Given the description of an element on the screen output the (x, y) to click on. 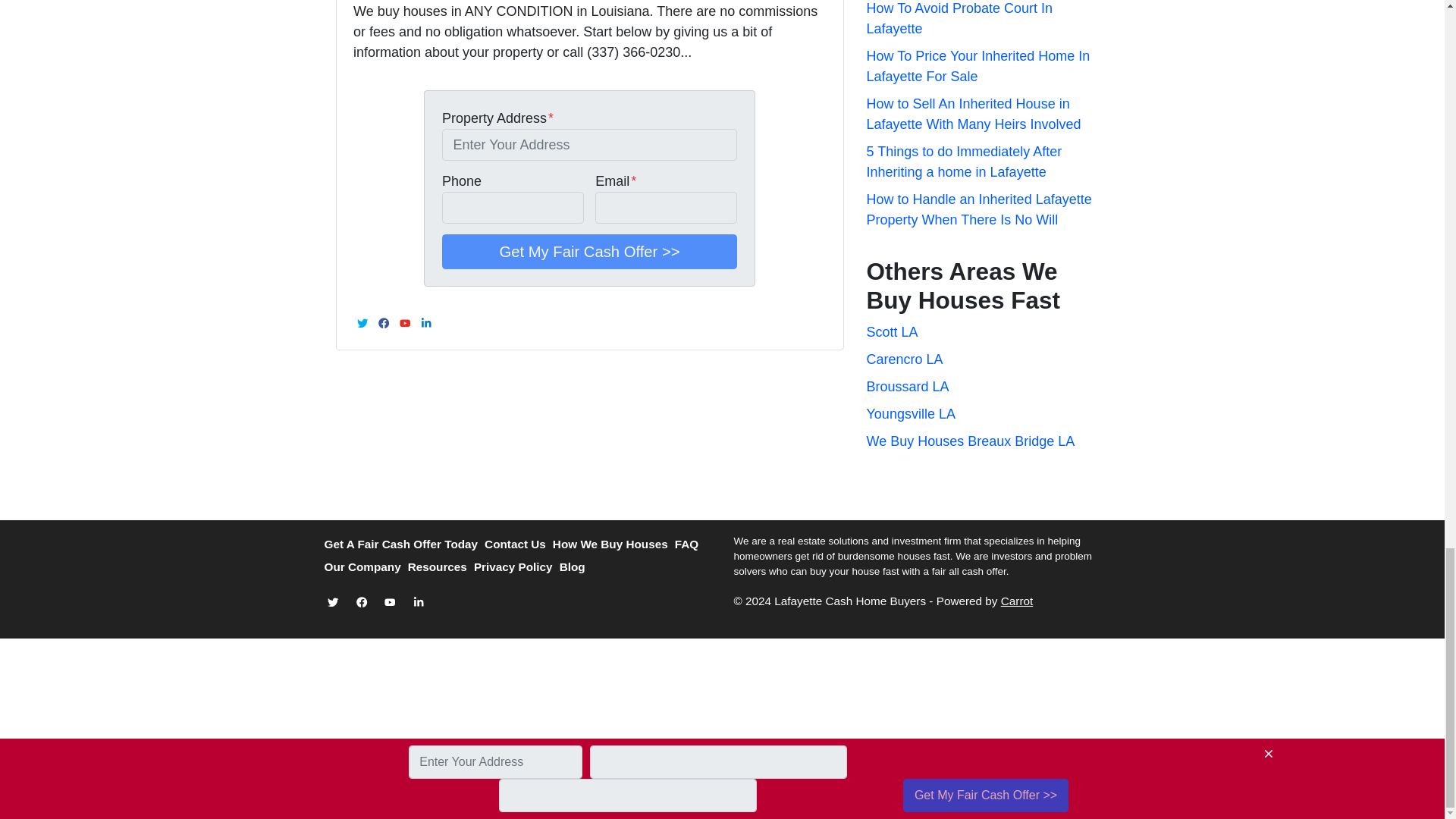
How To Price Your Inherited Home In Lafayette For Sale (977, 66)
Scott LA (891, 331)
We Buy Houses Breaux Bridge LA (970, 441)
Contact Us (518, 544)
Twitter (362, 322)
Facebook (383, 322)
YouTube (404, 322)
How To Avoid Probate Court In Lafayette (958, 18)
Get A Fair Cash Offer Today (404, 544)
